Given the description of an element on the screen output the (x, y) to click on. 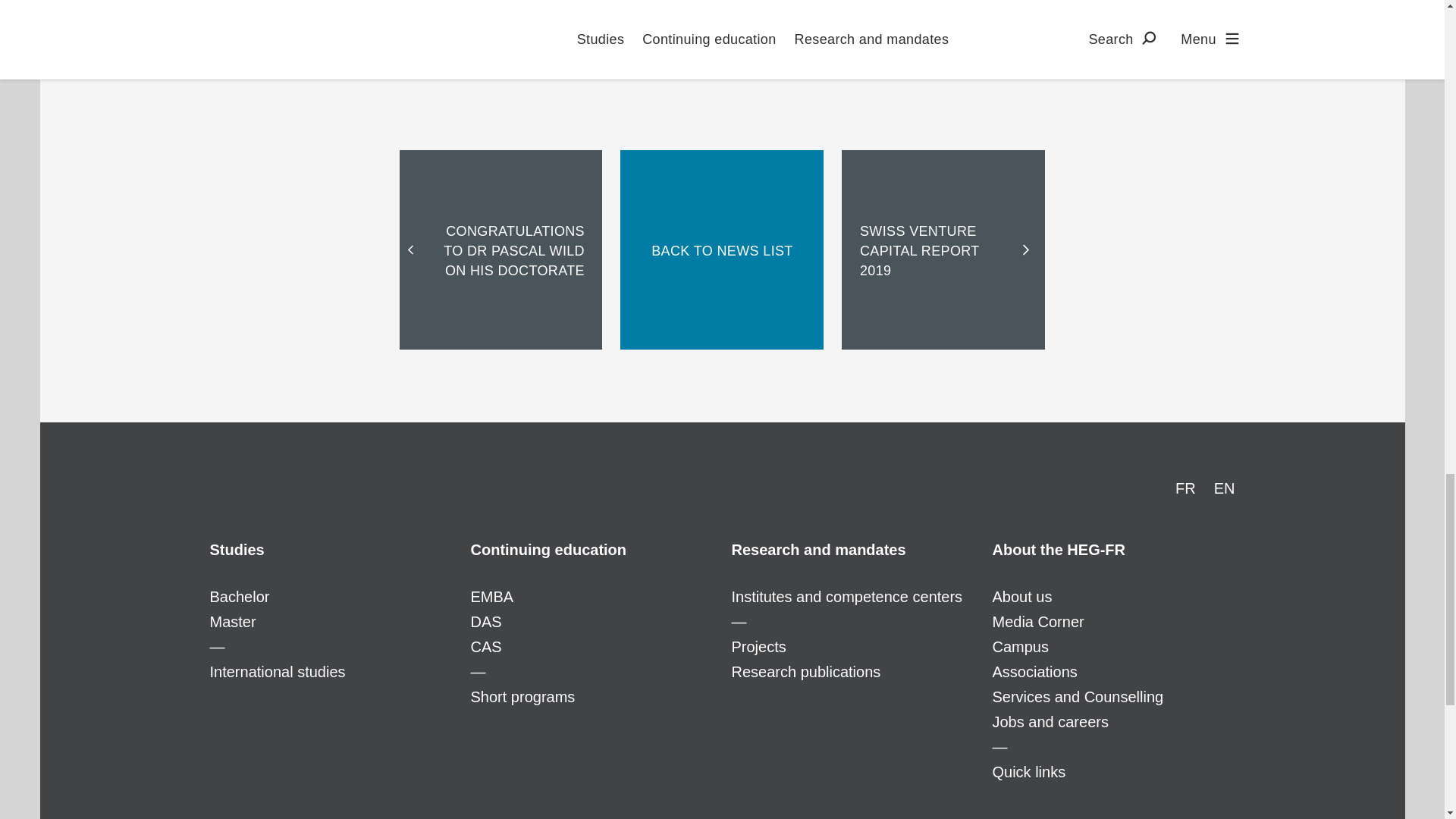
About us (1112, 549)
